Given the description of an element on the screen output the (x, y) to click on. 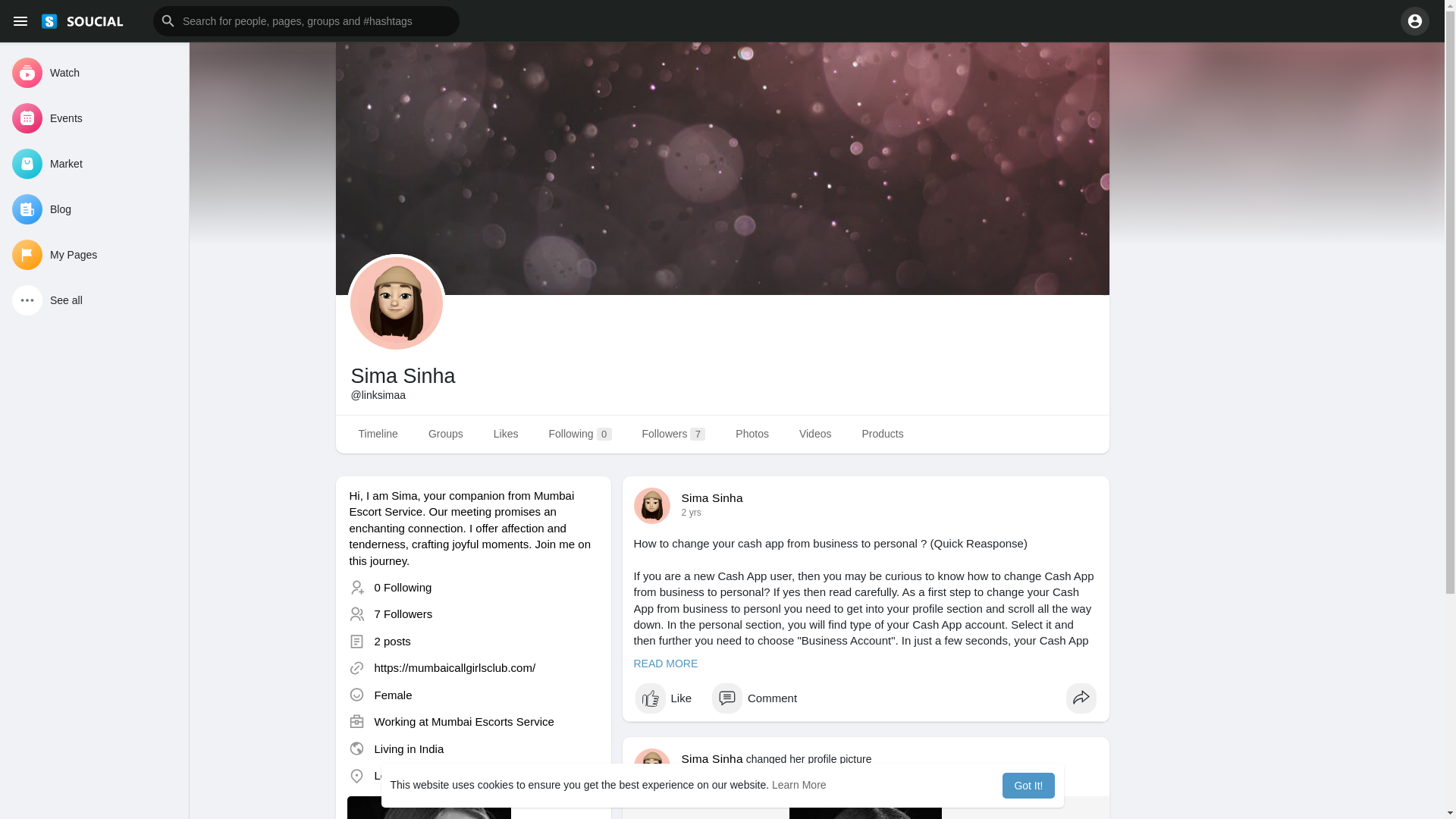
2 yrs (690, 773)
Got It! (1028, 785)
Learn More (799, 784)
2 yrs (690, 511)
